Given the description of an element on the screen output the (x, y) to click on. 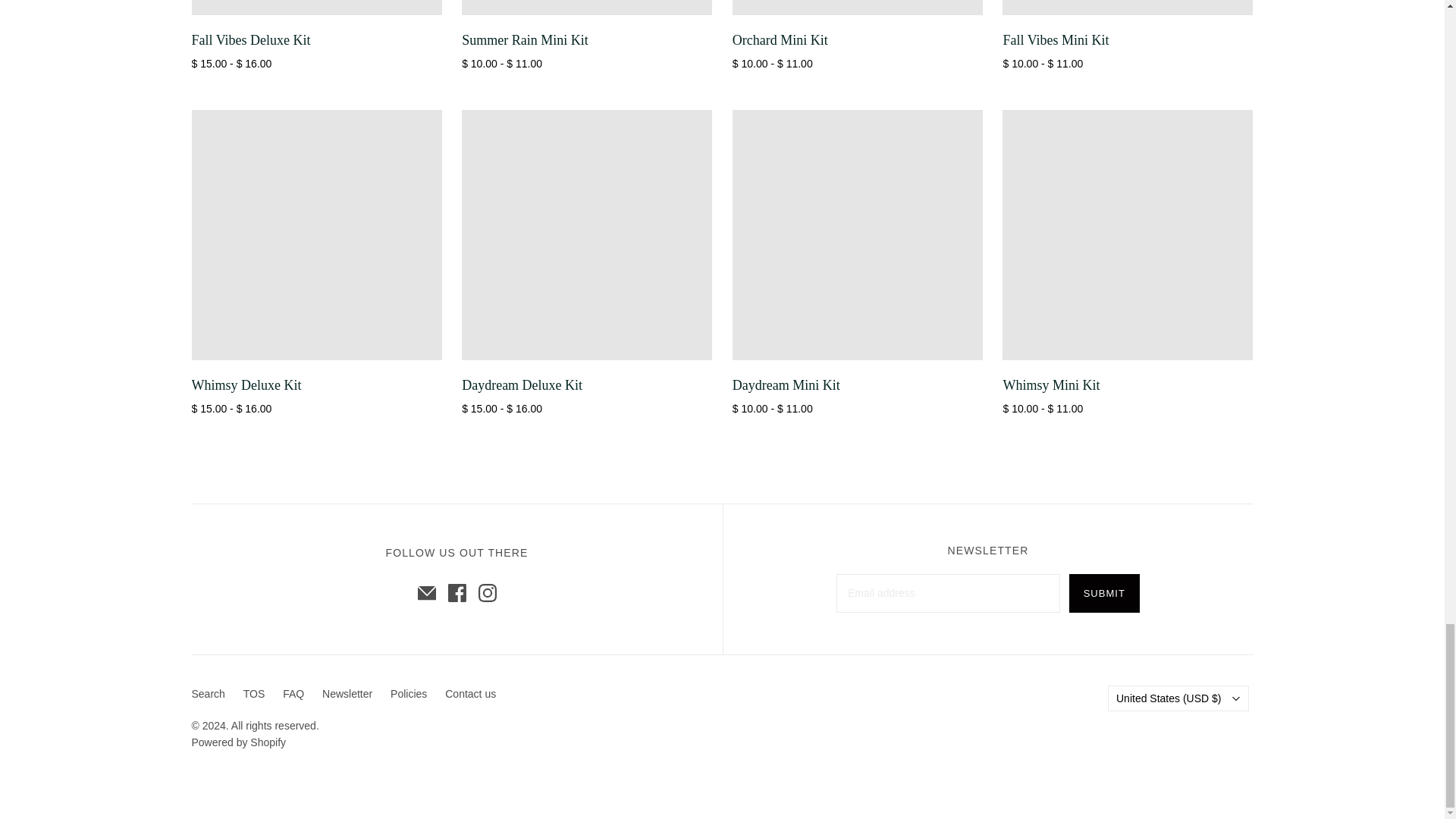
Submit (1104, 593)
